Given the description of an element on the screen output the (x, y) to click on. 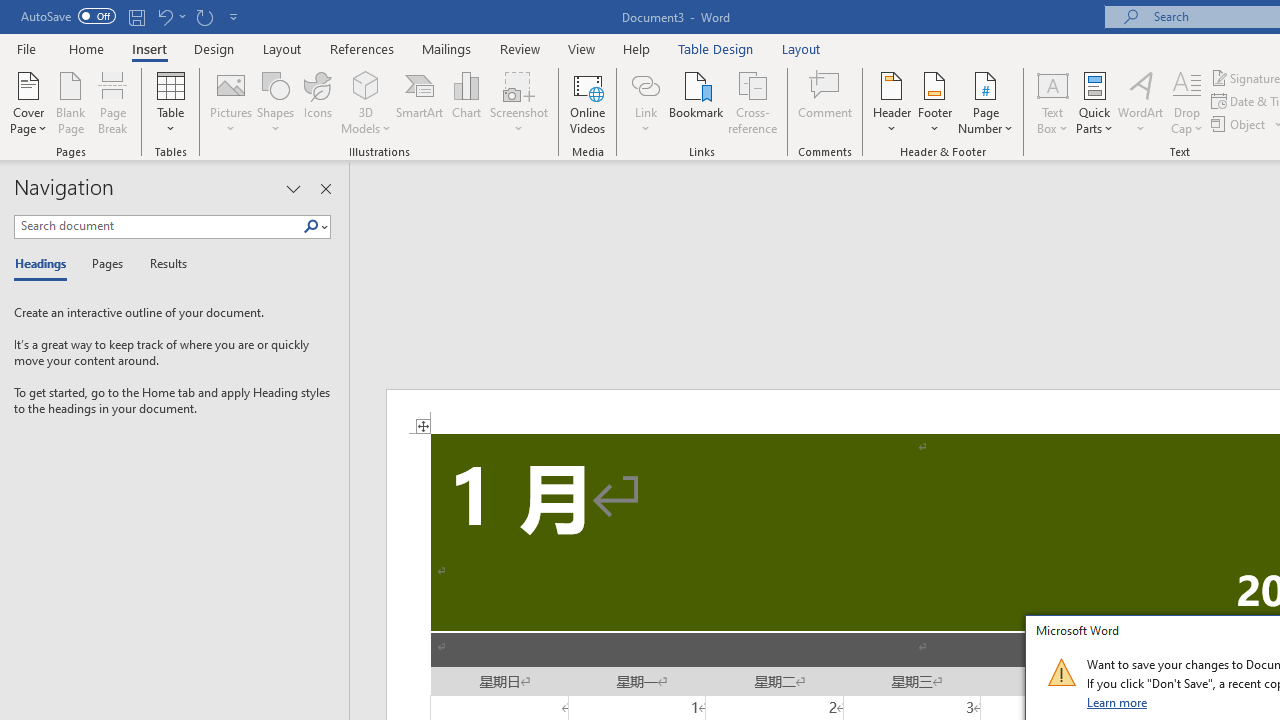
Screenshot (518, 102)
Header (891, 102)
Cover Page (28, 102)
Comment (825, 102)
Learn more (1118, 702)
SmartArt... (419, 102)
